Given the description of an element on the screen output the (x, y) to click on. 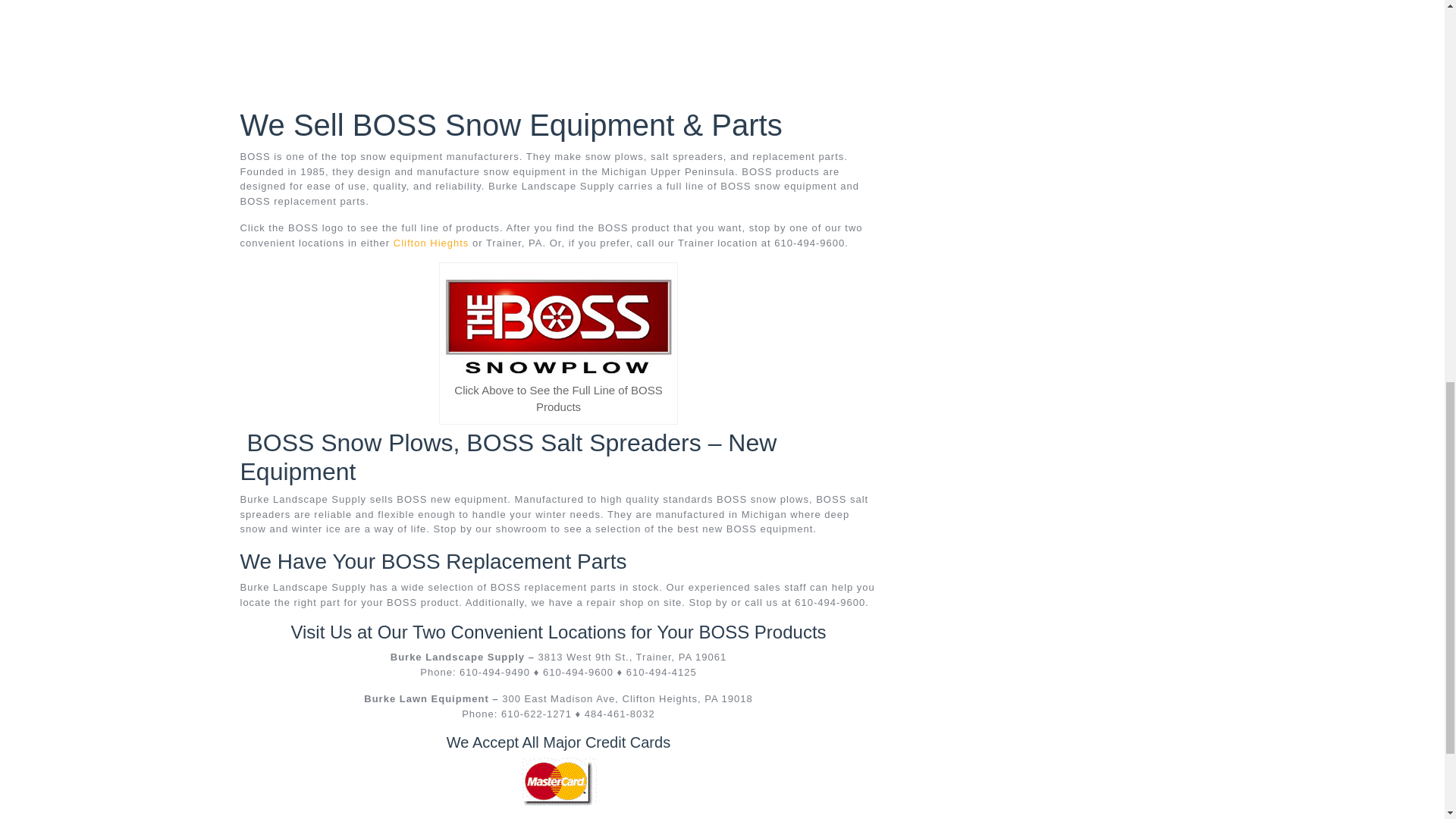
BOSS snow equipment  (558, 323)
Clifton Hieghts (430, 242)
Buyers Snow Equipment and Parts (558, 783)
